Given the description of an element on the screen output the (x, y) to click on. 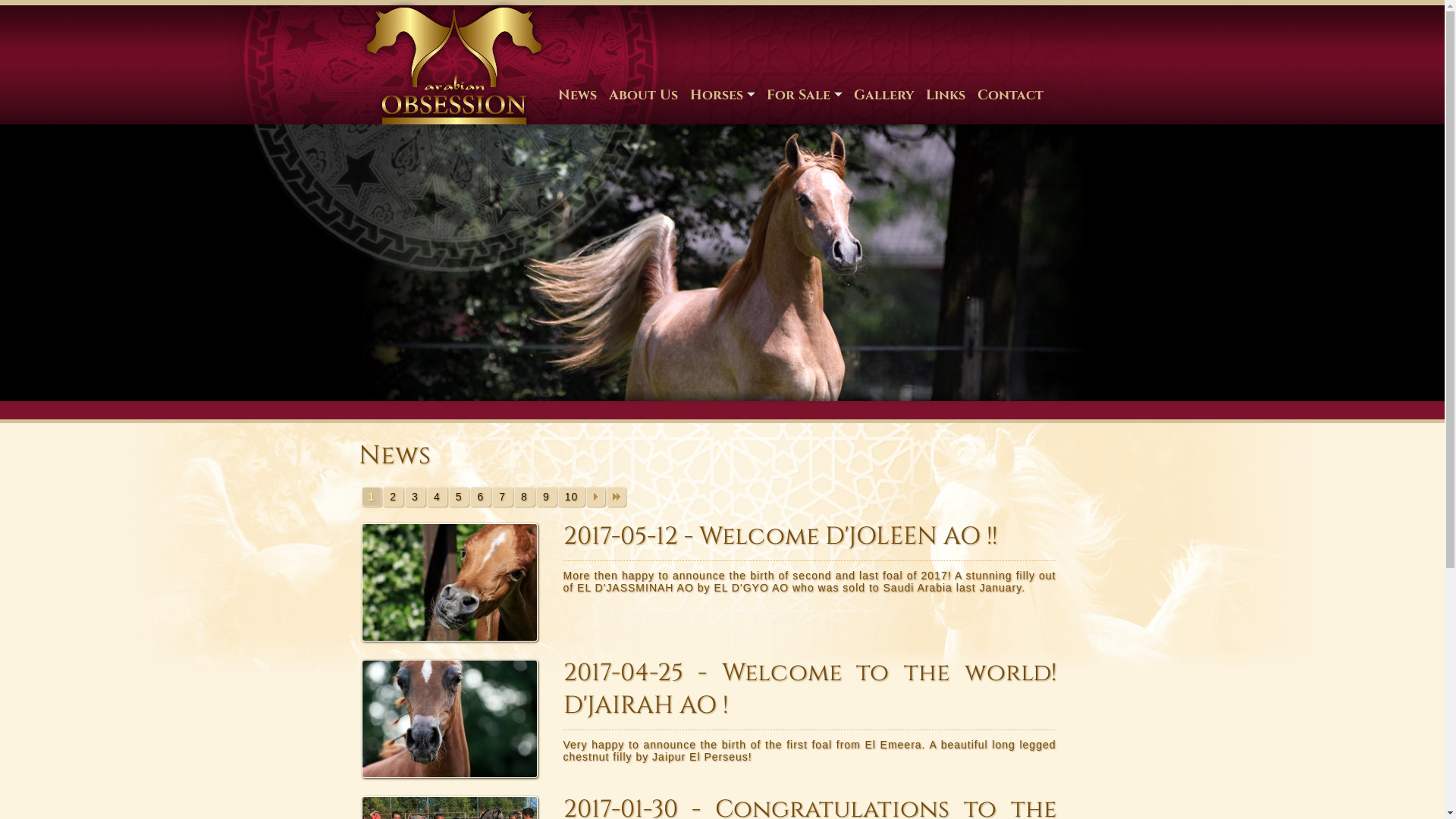
5 Element type: text (458, 496)
Horses Element type: text (722, 94)
last page Element type: hover (615, 496)
6 Element type: text (480, 496)
Welcome to the world! D'JAIRAH AO ! Element type: hover (456, 718)
10 Element type: text (571, 496)
For Sale Element type: text (803, 94)
7 Element type: text (502, 496)
Links Element type: text (944, 94)
News Element type: text (577, 94)
next page Element type: hover (595, 496)
Contact Element type: text (1009, 94)
About Us Element type: text (642, 94)
8 Element type: text (524, 496)
4 Element type: text (436, 496)
Welcome D'JOLEEN AO !! Element type: hover (456, 582)
2 Element type: text (392, 496)
Gallery Element type: text (883, 94)
9 Element type: text (546, 496)
3 Element type: text (414, 496)
